Given the description of an element on the screen output the (x, y) to click on. 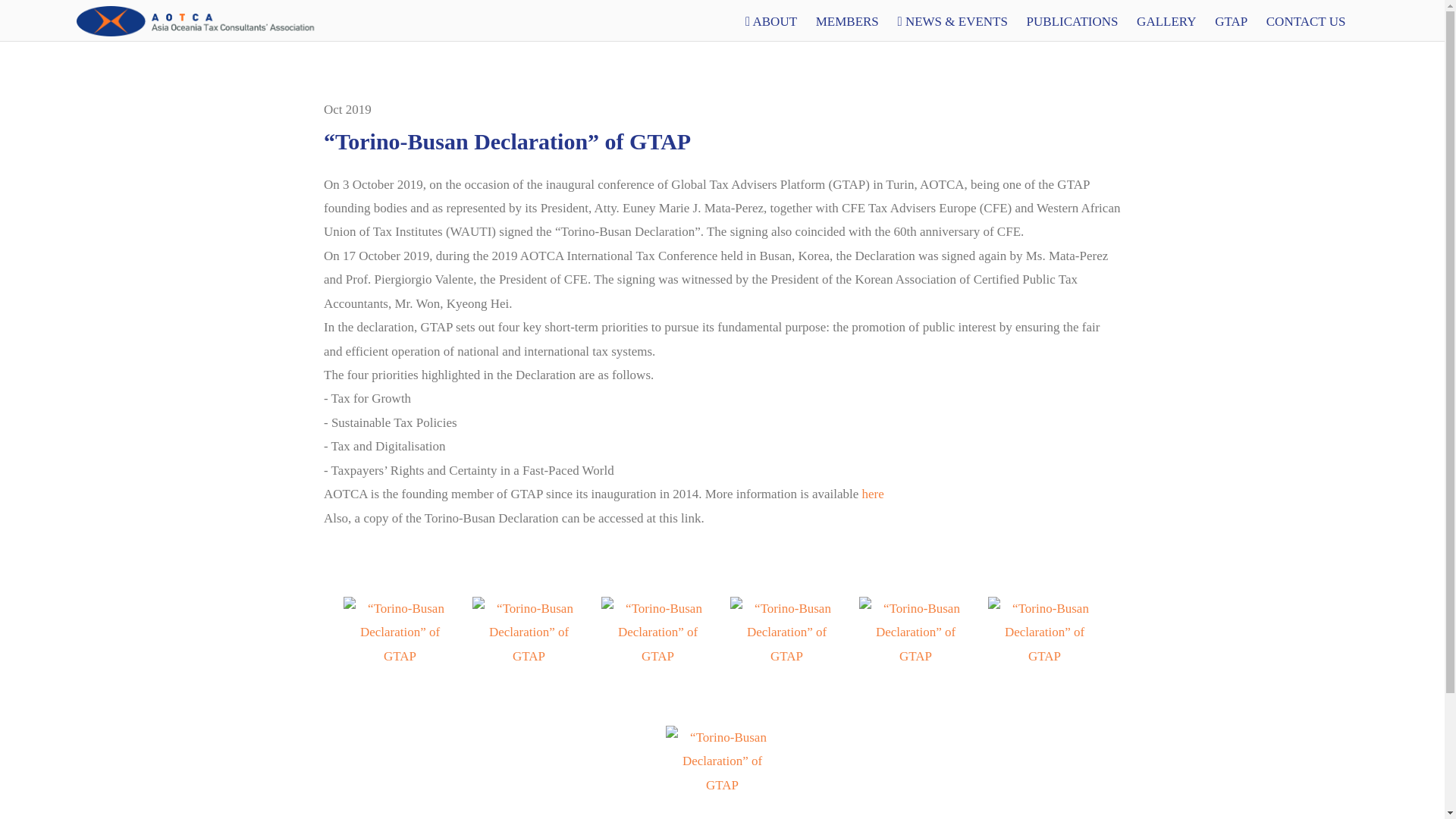
GTAP (1231, 21)
gtapnews-5 (656, 656)
gtapnews-4 (786, 656)
gtapnews-7 (399, 656)
PUBLICATIONS (1071, 21)
gtapnews-3 (915, 656)
MEMBERS (847, 21)
CONTACT US (1306, 21)
GALLERY (1166, 21)
gtapnews-6 (528, 656)
gtapnews-2 (1043, 656)
here (872, 493)
ABOUT (771, 21)
gtapnews-1 (721, 785)
